Given the description of an element on the screen output the (x, y) to click on. 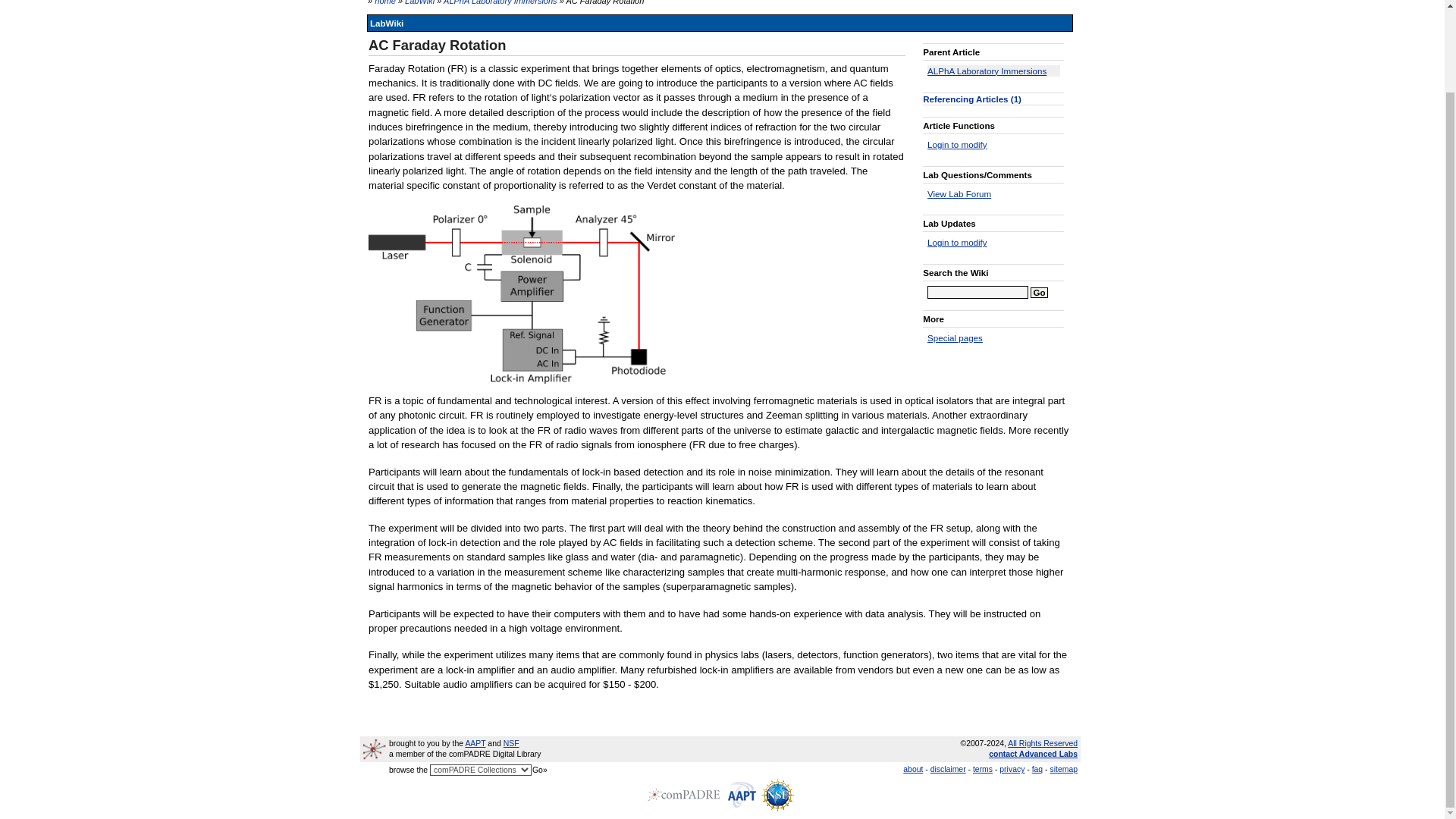
LabWiki (418, 2)
NSF (511, 743)
ALPhA Laboratory Immersions (500, 2)
home (385, 2)
AAPT (474, 743)
